Given the description of an element on the screen output the (x, y) to click on. 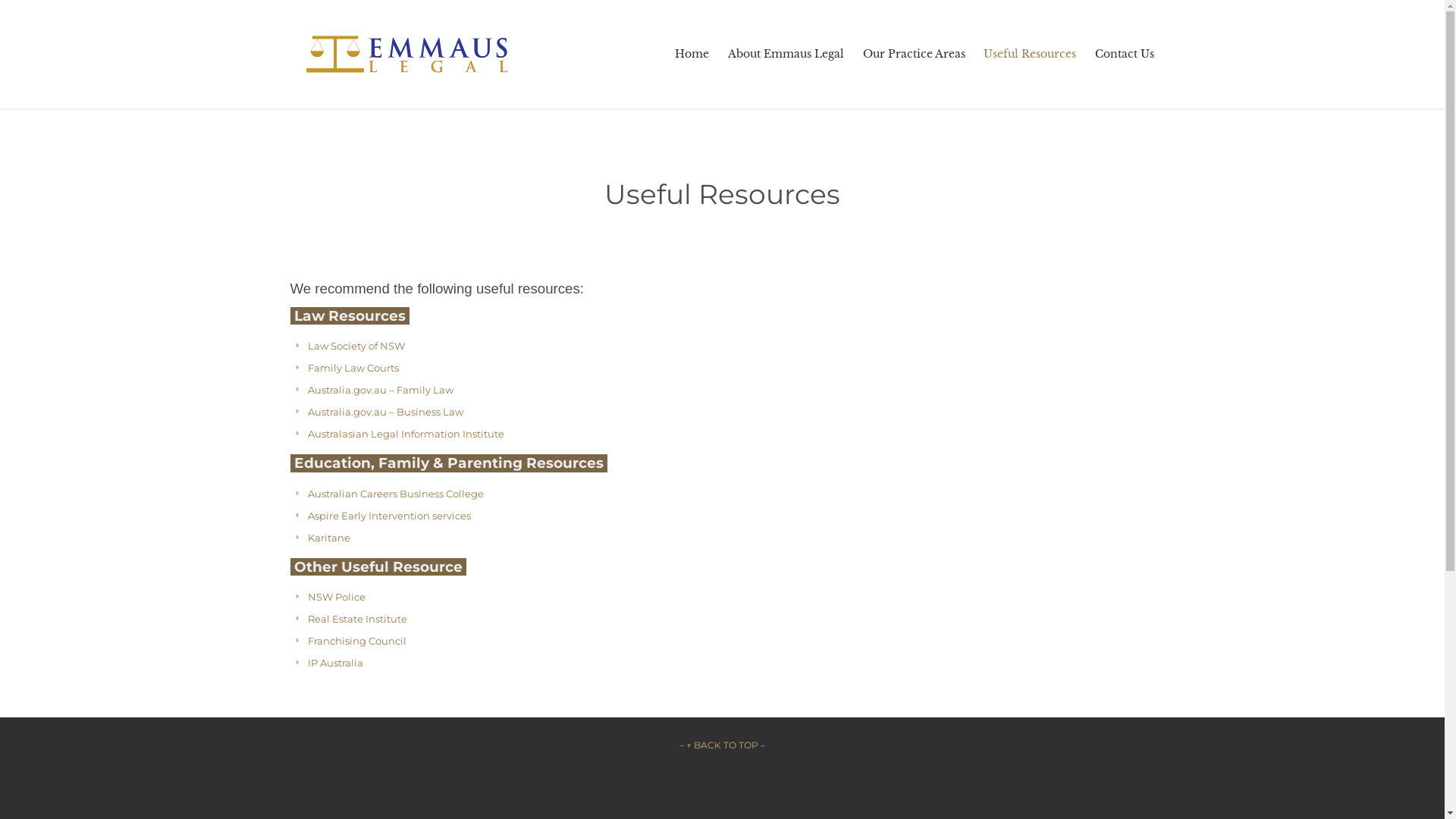
Australasian Legal Information Institute Element type: text (405, 433)
Australian Careers Business College Element type: text (395, 493)
Home Element type: text (691, 53)
Karitane Element type: text (328, 537)
Family Law Courts Element type: text (352, 367)
NSW Police Element type: text (336, 596)
Real Estate Institute Element type: text (357, 618)
Aspire Early Intervention services Element type: text (388, 515)
Franchising Council Element type: text (356, 640)
About Emmaus Legal Element type: text (785, 53)
Useful Resources Element type: text (1029, 53)
Skip to content Element type: text (1163, 34)
IP Australia Element type: text (335, 662)
Contact Us Element type: text (1124, 53)
Our Practice Areas Element type: text (913, 53)
Law Society of NSW Element type: text (355, 345)
